Given the description of an element on the screen output the (x, y) to click on. 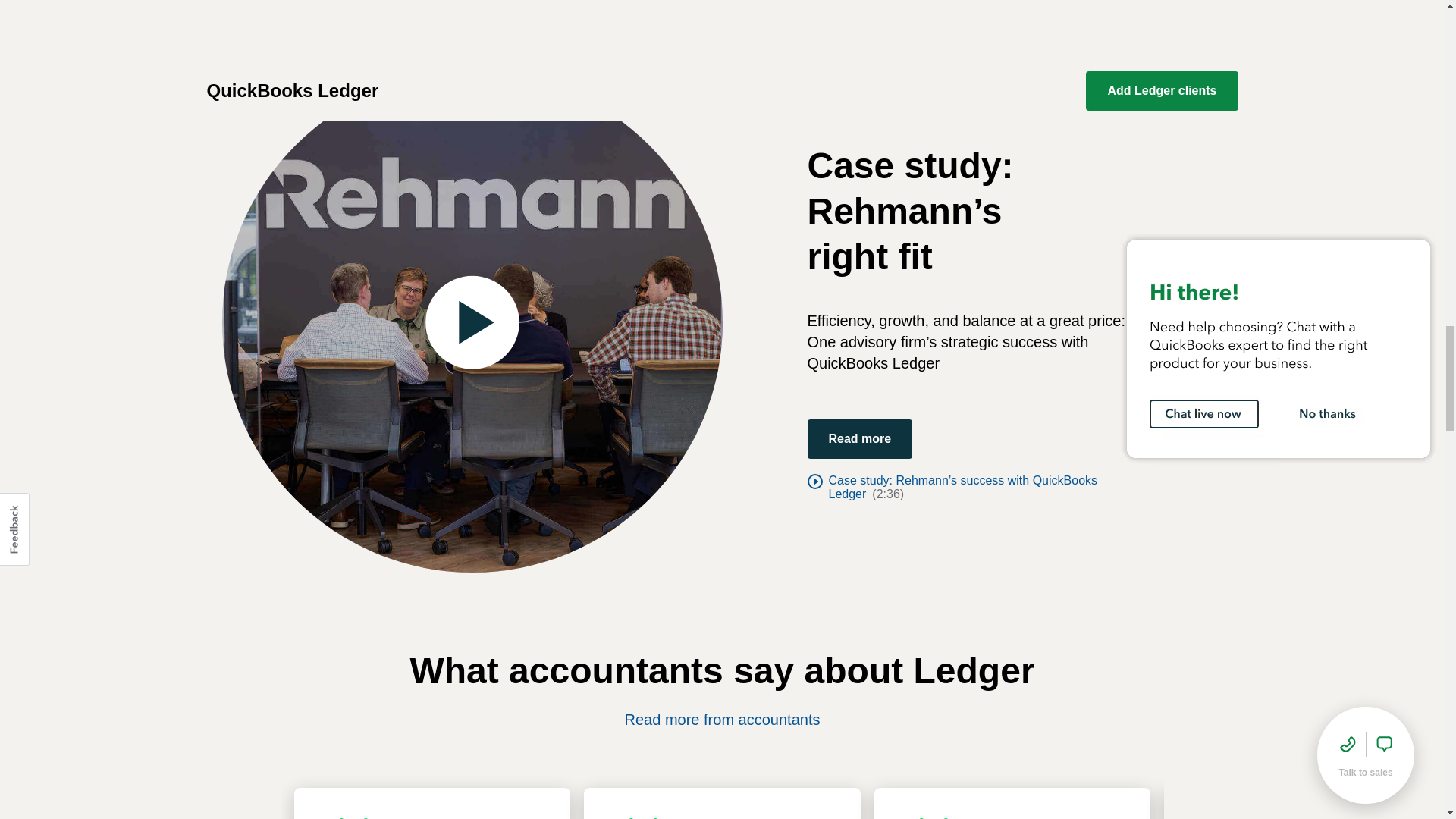
Read more from accountants (721, 719)
Read more (859, 438)
Read more from Accountants (721, 719)
Read more (859, 438)
